Given the description of an element on the screen output the (x, y) to click on. 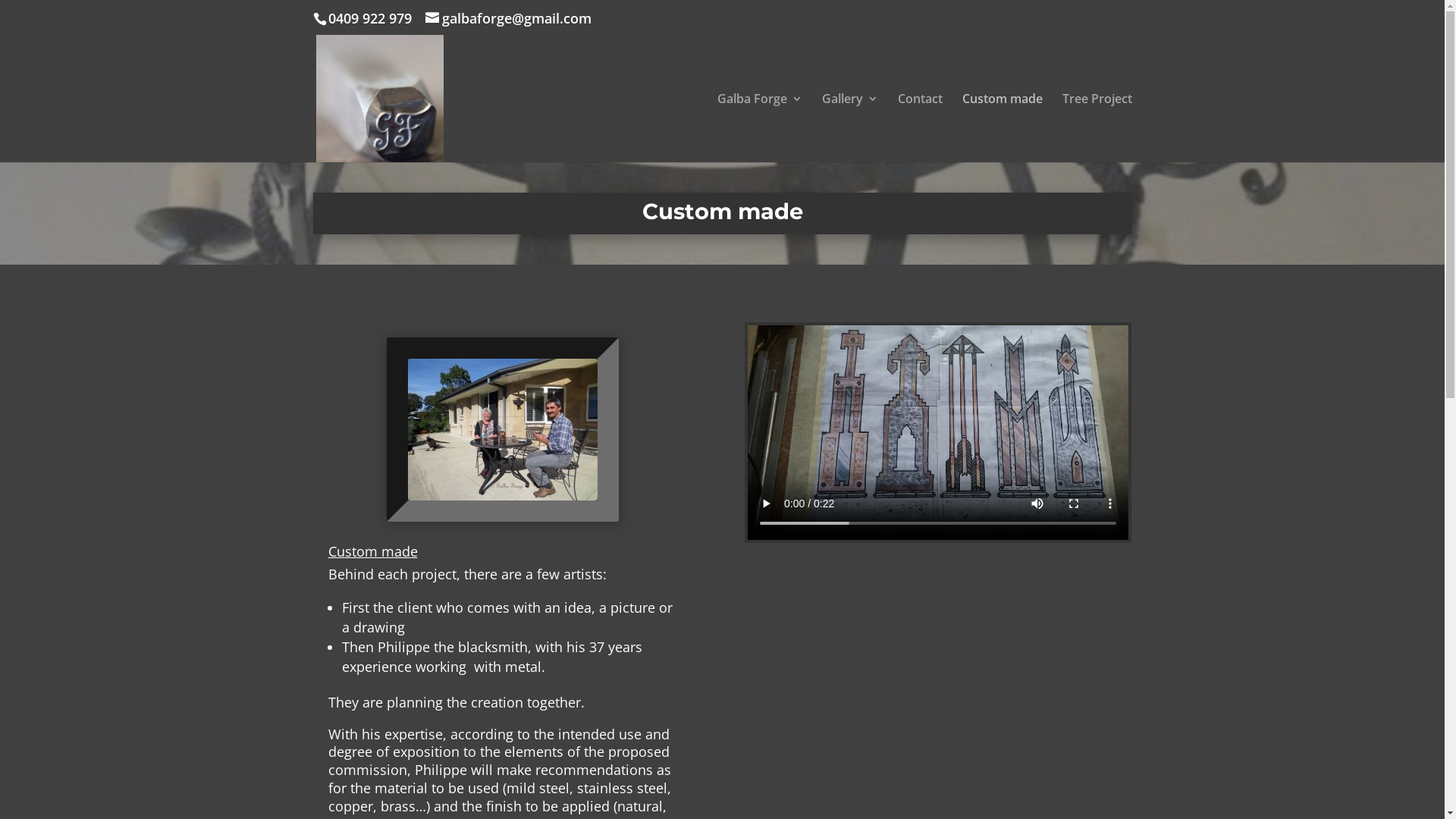
Galba Forge Element type: text (759, 127)
Custom made Element type: text (1001, 127)
Tree Project Element type: text (1096, 127)
Contact Element type: text (919, 127)
galbaforge@gmail.com Element type: text (507, 18)
Gallery Element type: text (850, 127)
